Given the description of an element on the screen output the (x, y) to click on. 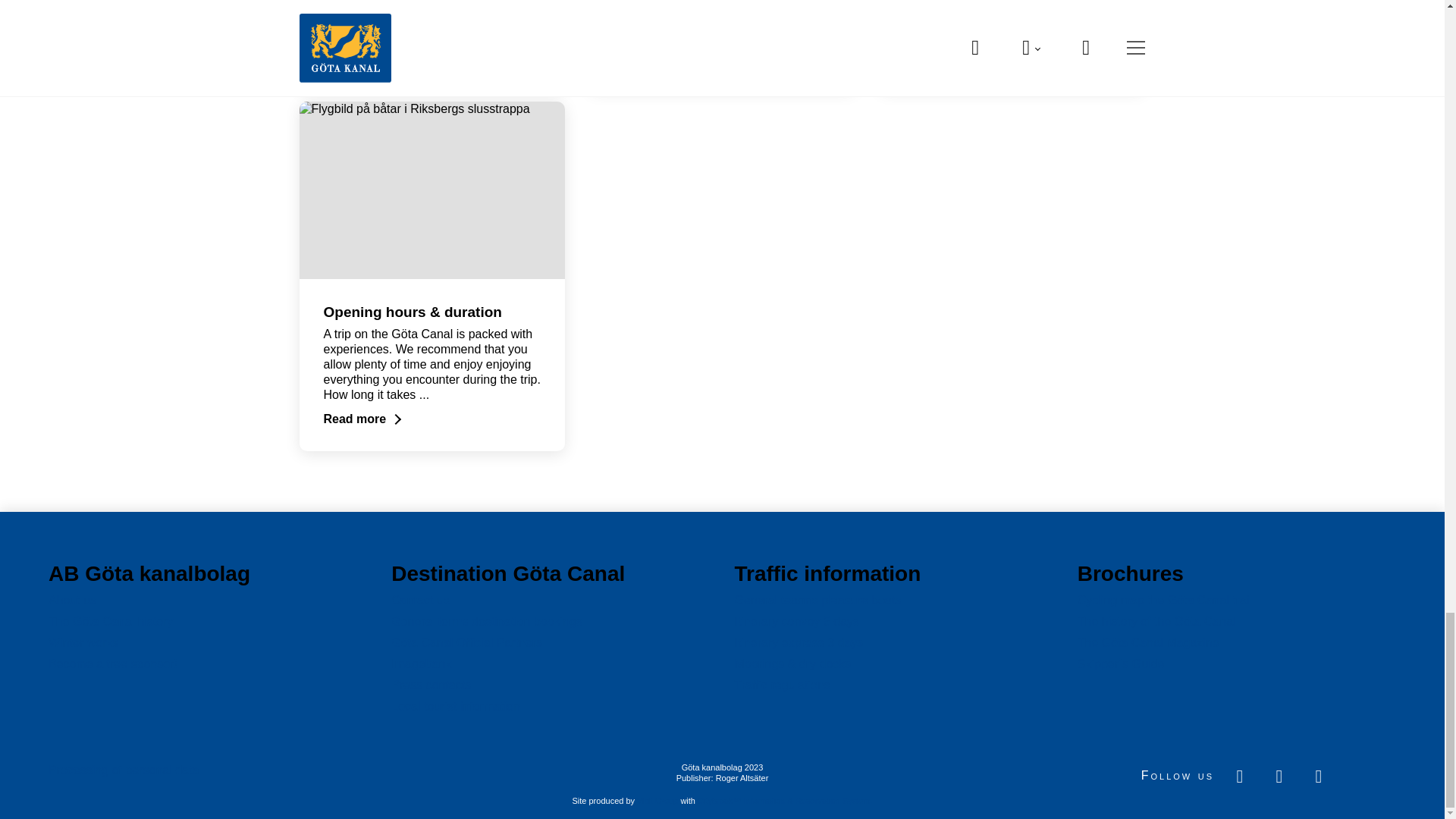
Itinerary express 3 days (798, 642)
Itinerary convoy 5 days (796, 621)
General terms pleasure boat (817, 599)
Traffic regulations (781, 684)
